Given the description of an element on the screen output the (x, y) to click on. 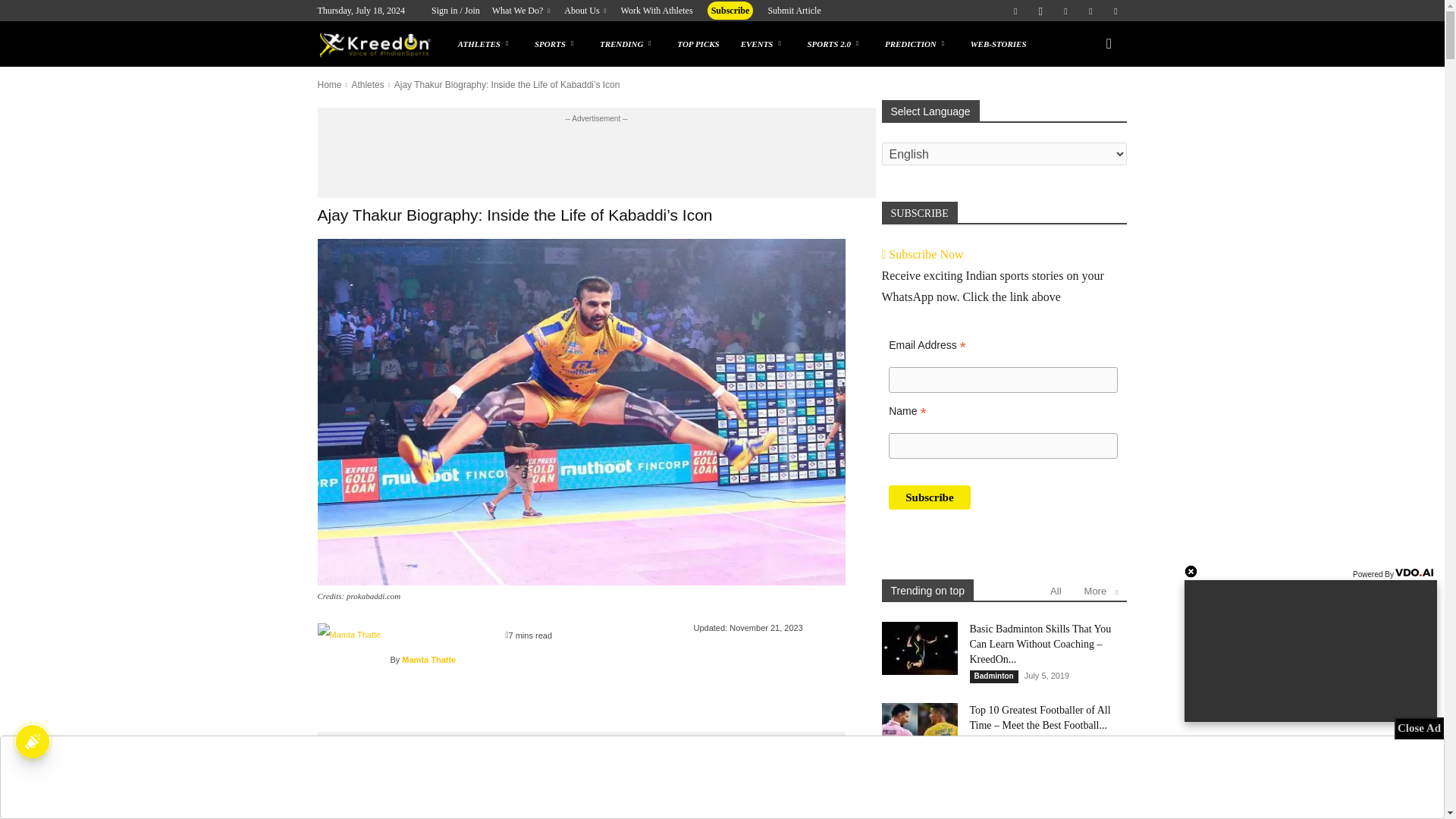
Instagram (1040, 10)
Facebook (1015, 10)
Youtube (1114, 10)
Linkedin (1065, 10)
Twitter (1090, 10)
Subscribe (928, 497)
